Given the description of an element on the screen output the (x, y) to click on. 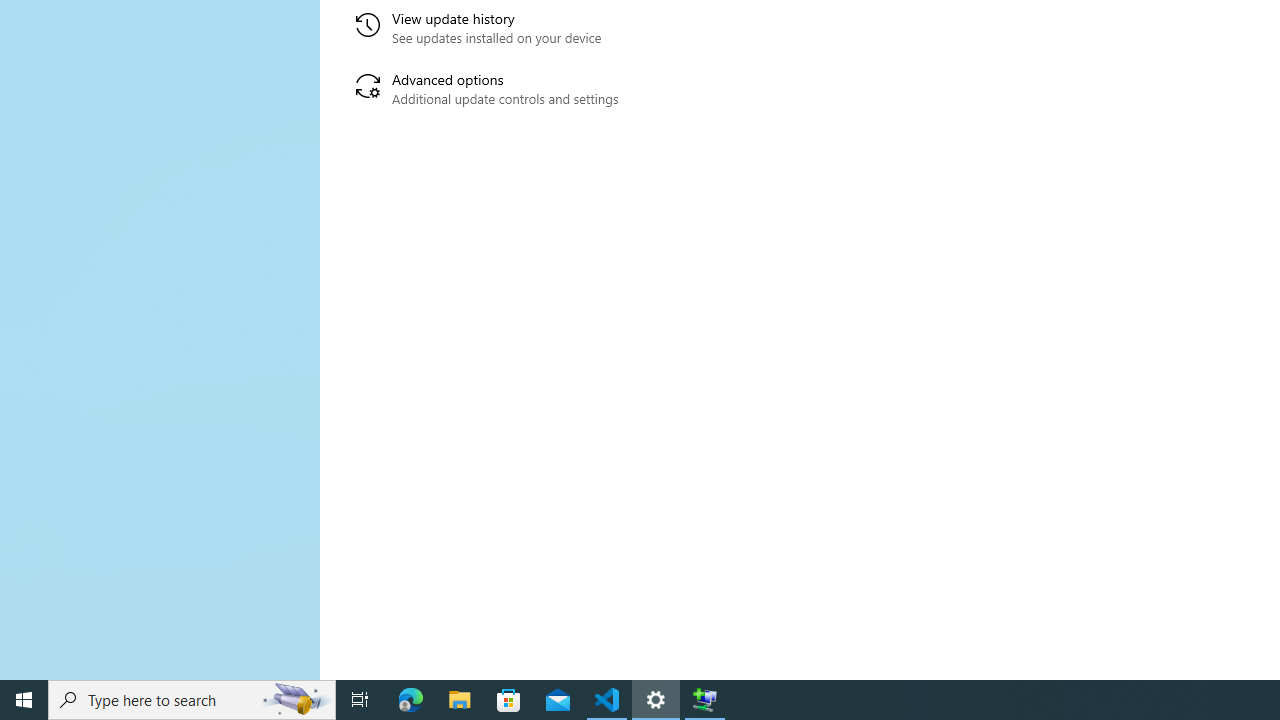
Extensible Wizards Host Process - 1 running window (704, 699)
Advanced options (566, 89)
